Given the description of an element on the screen output the (x, y) to click on. 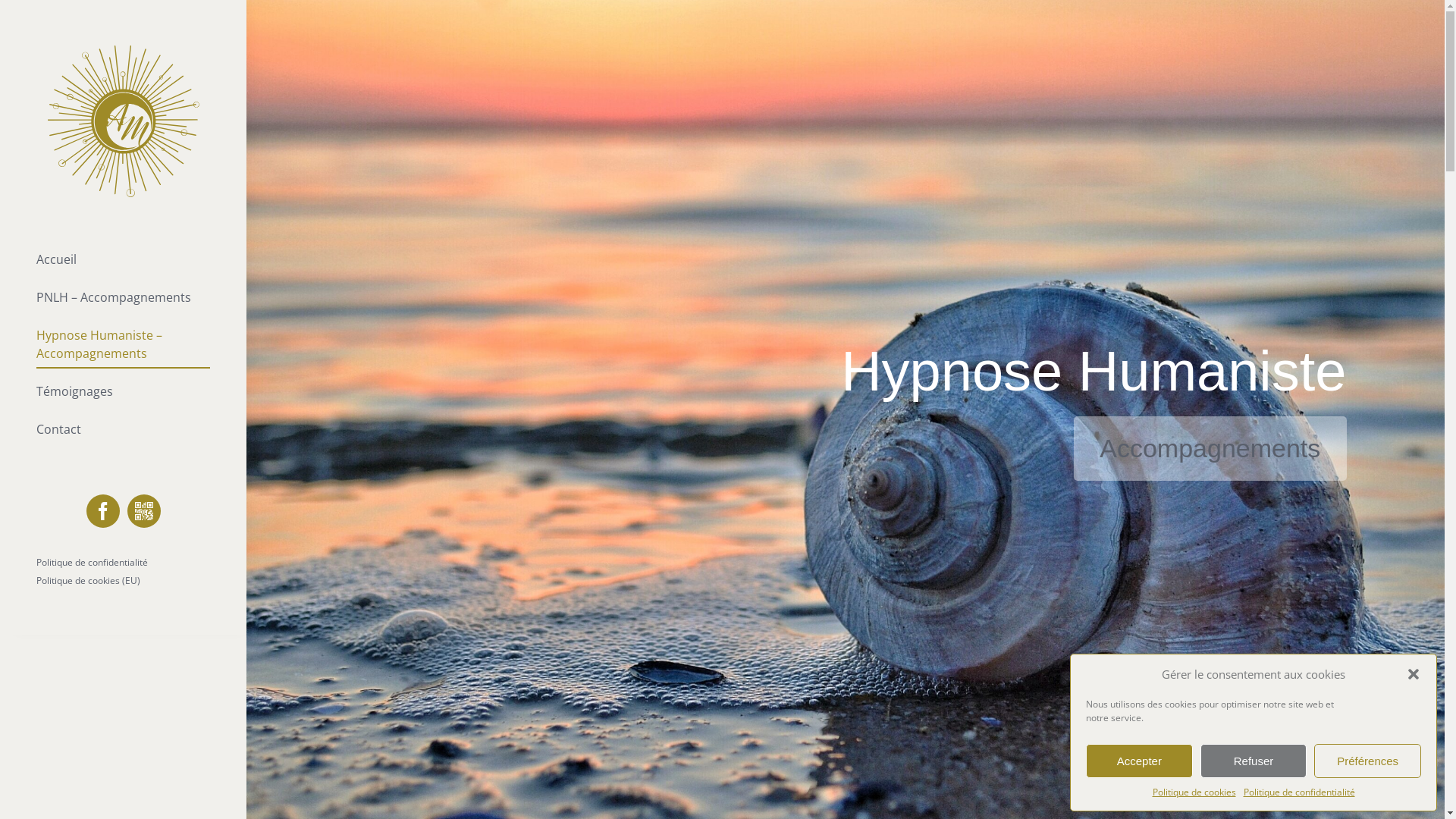
Politique de cookies Element type: text (1194, 792)
Accepter Element type: text (1138, 760)
Refuser Element type: text (1253, 760)
Contact Element type: text (123, 429)
Accueil Element type: text (123, 259)
DataScreen Element type: hover (143, 510)
Facebook Element type: hover (102, 510)
Politique de cookies (EU) Element type: text (88, 580)
